Given the description of an element on the screen output the (x, y) to click on. 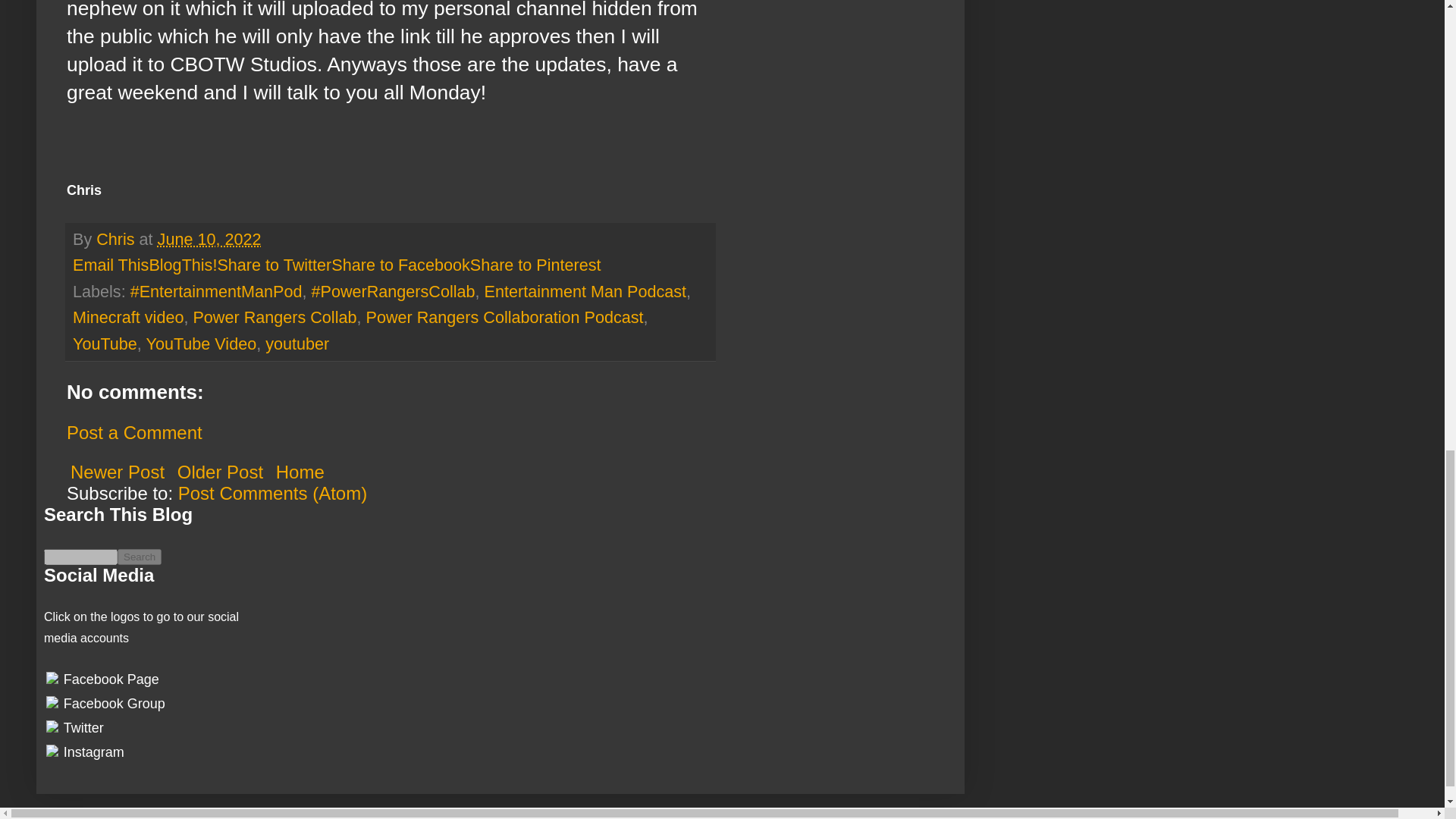
BlogThis! (182, 264)
youtuber (296, 343)
June 10, 2022 (209, 239)
Email This (110, 264)
Email This (110, 264)
Share to Twitter (273, 264)
Newer Post (117, 471)
Search (139, 556)
Search (139, 556)
Older Post (219, 471)
